Given the description of an element on the screen output the (x, y) to click on. 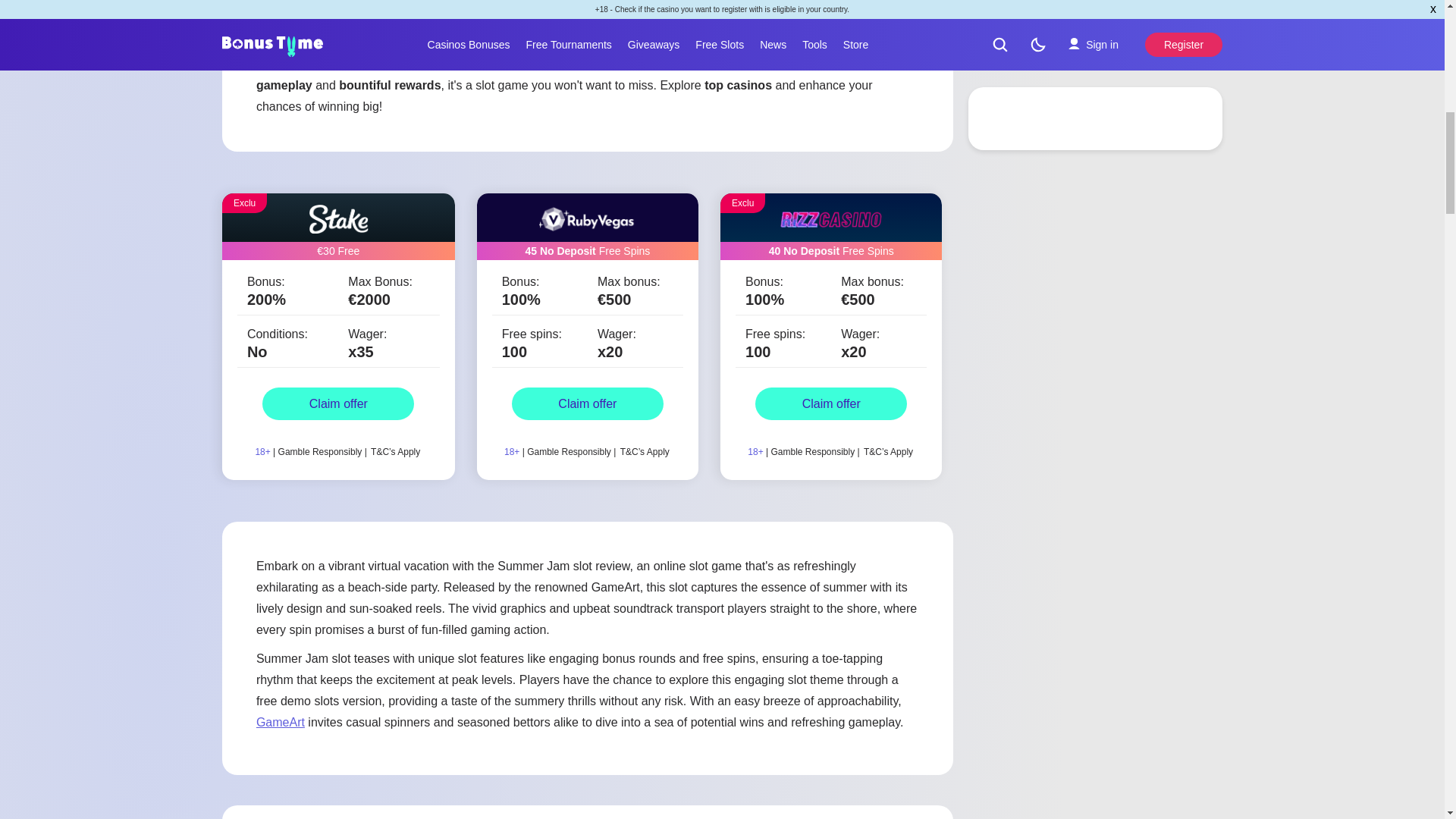
GameArt (280, 721)
